Given the description of an element on the screen output the (x, y) to click on. 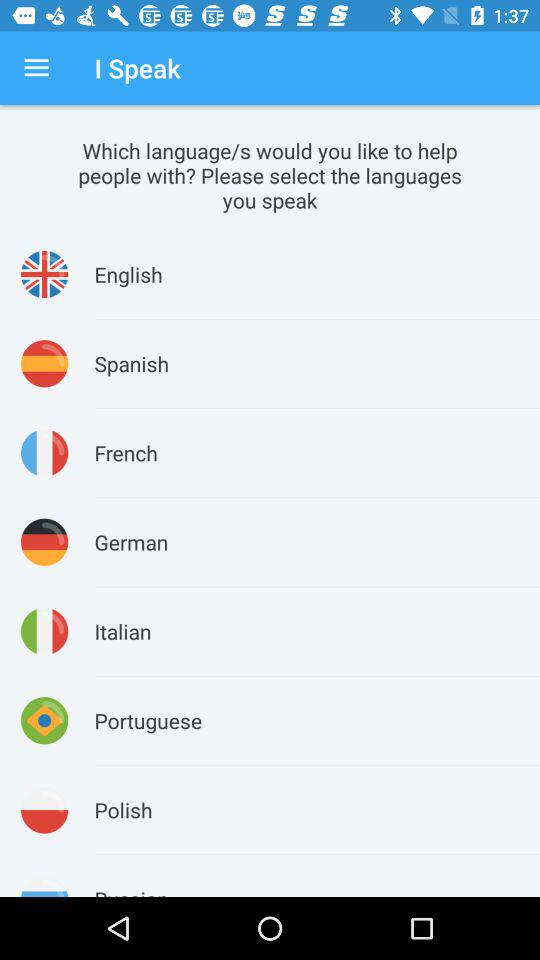
select item to the left of i speak (36, 68)
